Given the description of an element on the screen output the (x, y) to click on. 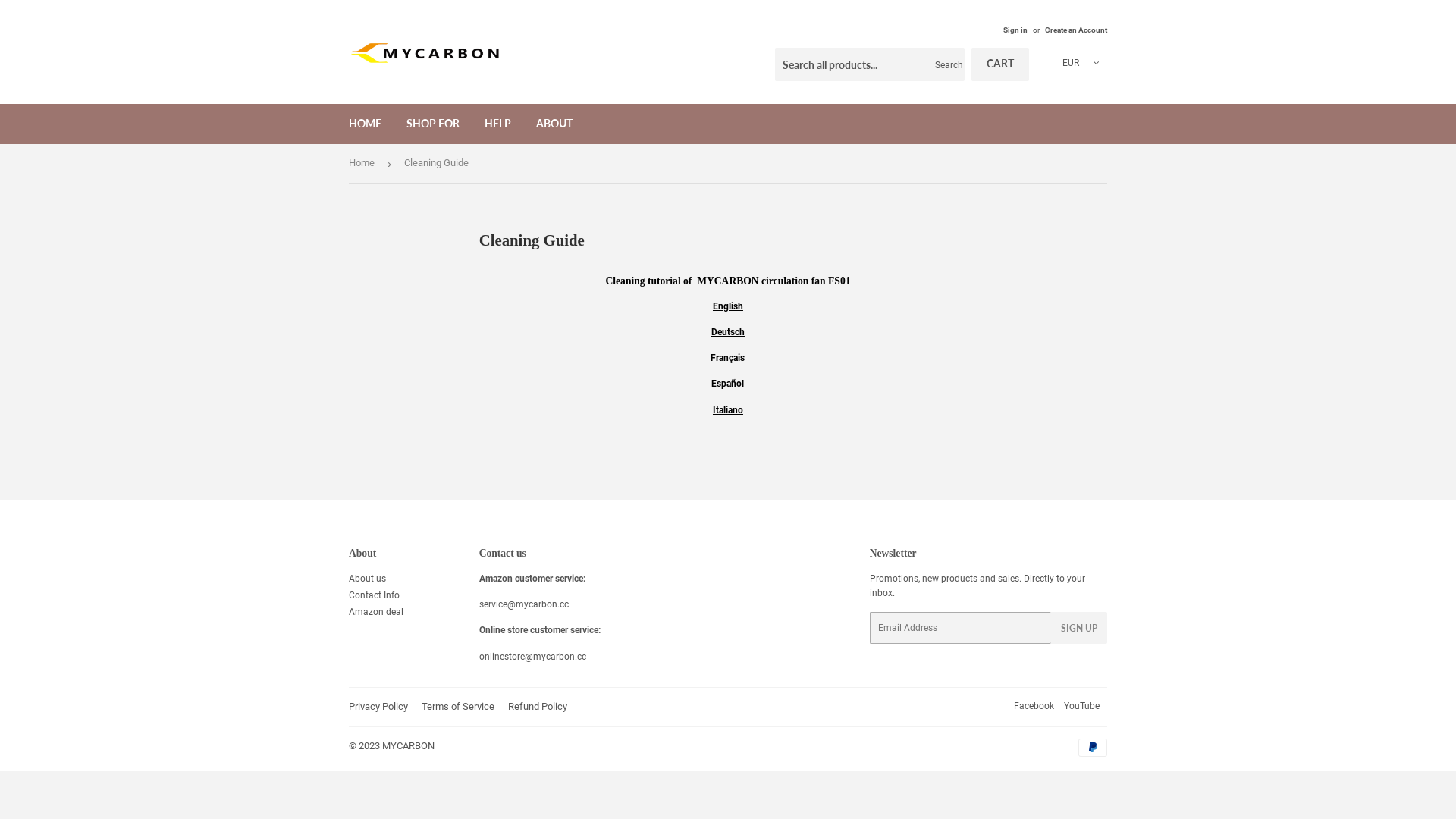
Facebook Element type: text (1033, 705)
About us Element type: text (366, 578)
Search Element type: text (947, 65)
Contact Info Element type: text (373, 594)
Create an Account Element type: text (1075, 29)
Refund Policy Element type: text (537, 706)
Privacy Policy Element type: text (377, 706)
Sign in Element type: text (1015, 29)
Deutsch Element type: text (727, 331)
CART Element type: text (1000, 64)
HOME Element type: text (364, 123)
service@mycarbon.cc Element type: text (523, 604)
Home Element type: text (363, 163)
English Element type: text (727, 306)
HELP Element type: text (497, 123)
ABOUT Element type: text (553, 123)
Italiano Element type: text (727, 409)
SIGN UP Element type: text (1079, 627)
YouTube Element type: text (1081, 705)
Terms of Service Element type: text (457, 706)
Amazon deal Element type: text (375, 611)
onlinestore@mycarbon.cc Element type: text (532, 656)
MYCARBON Element type: text (408, 745)
SHOP FOR Element type: text (432, 123)
